Given the description of an element on the screen output the (x, y) to click on. 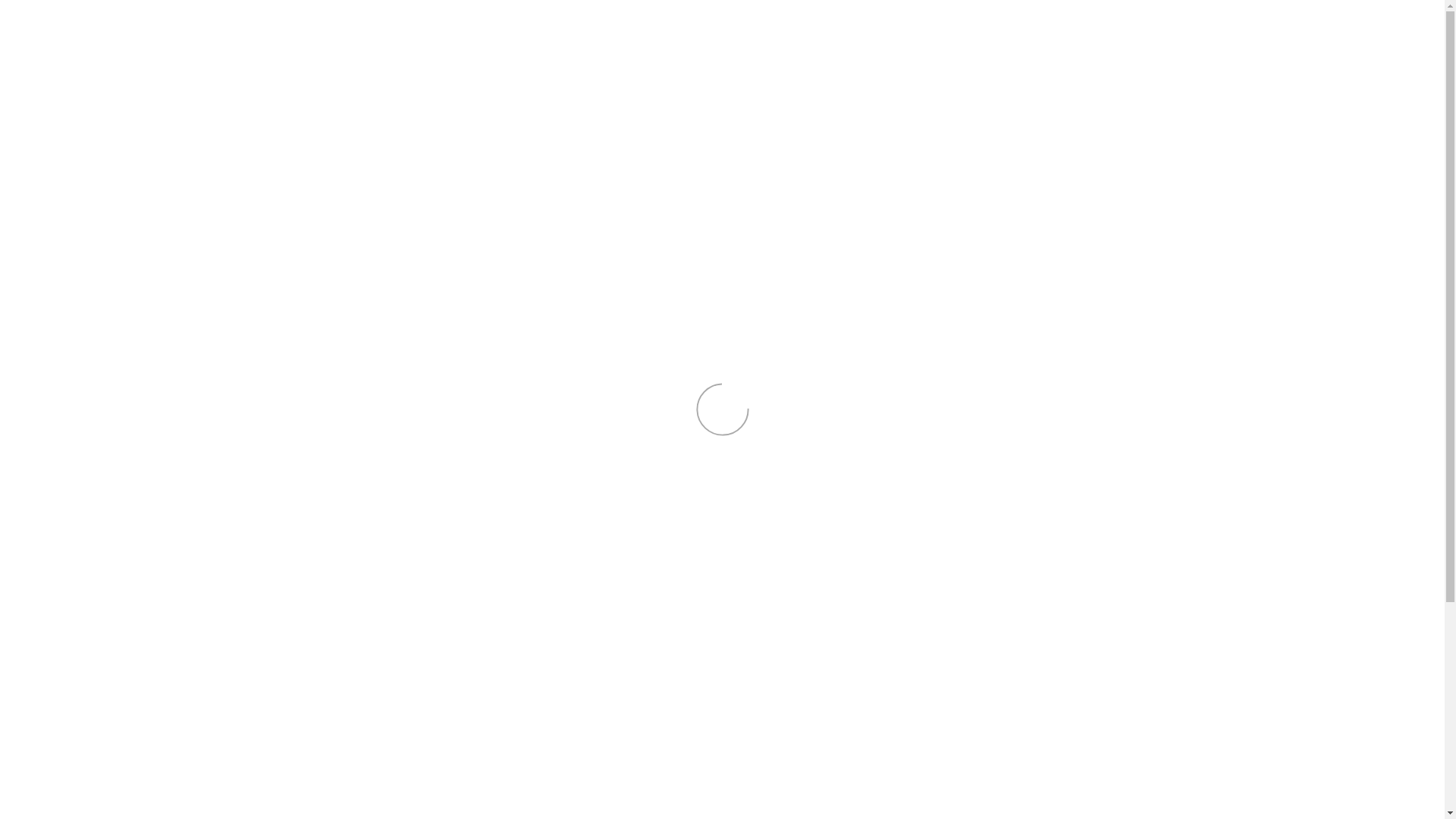
Direkt zum Inhalt Element type: text (0, 0)
Search Element type: text (1395, 36)
Publikationen Element type: text (117, 186)
Startseite Element type: hover (123, 34)
Apply Element type: text (1420, 15)
